Given the description of an element on the screen output the (x, y) to click on. 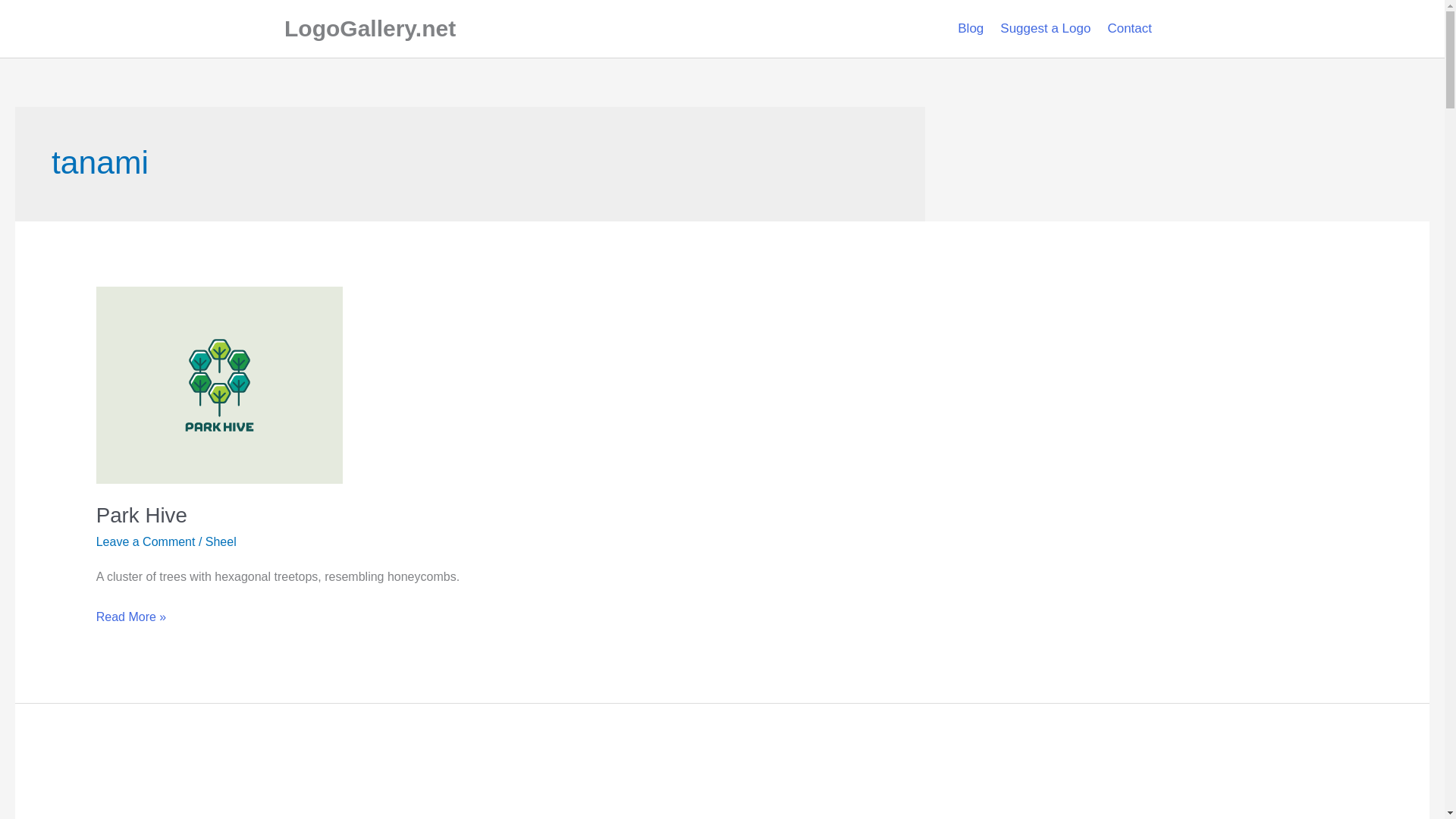
View all posts by Sheel (220, 541)
Suggest a Logo (1045, 28)
Leave a Comment (145, 541)
Blog (970, 28)
Park Hive (141, 515)
Contact (1129, 28)
Blog (970, 28)
Sheel (220, 541)
LogoGallery.net (369, 27)
